Given the description of an element on the screen output the (x, y) to click on. 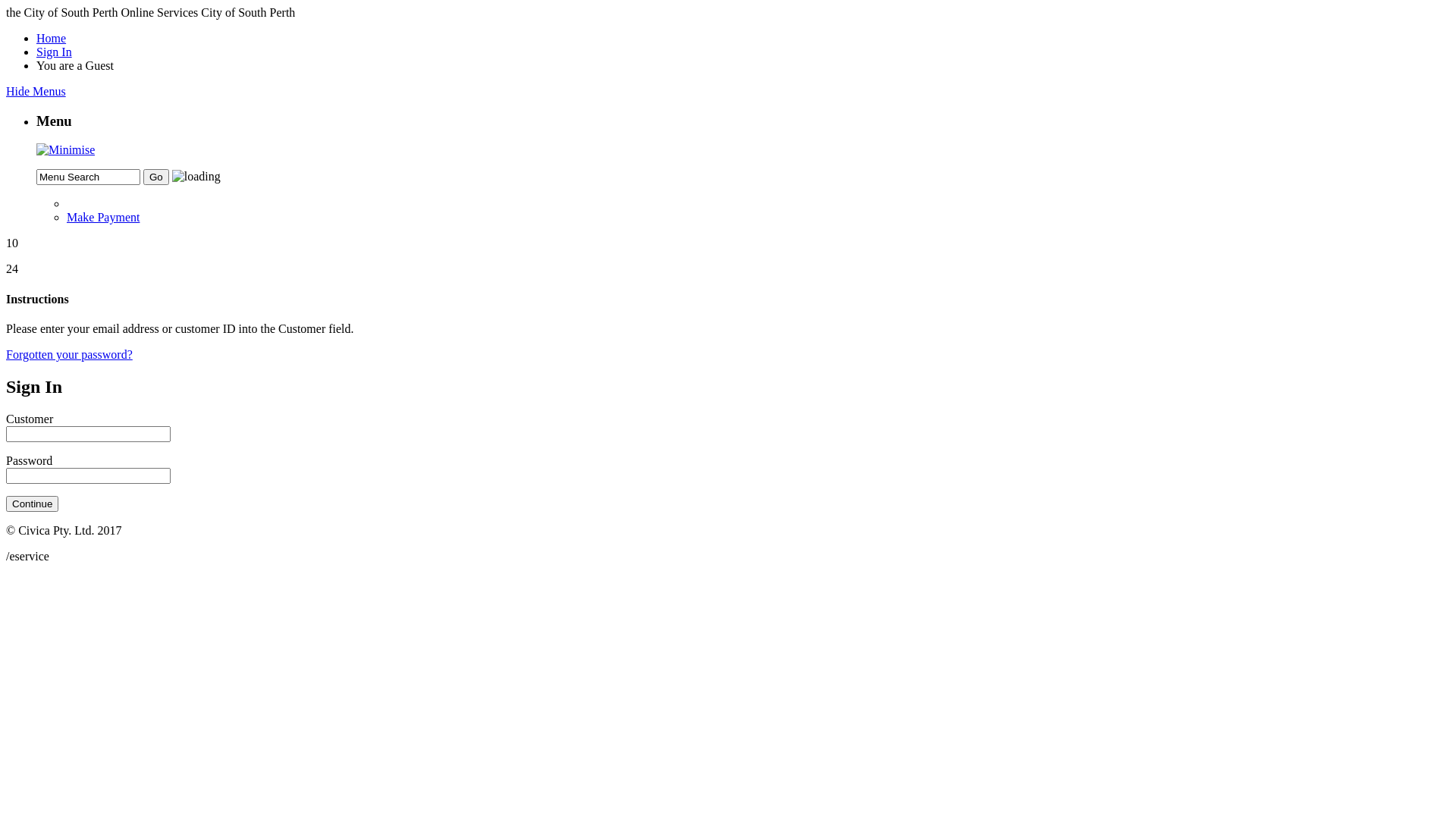
Home Element type: text (50, 37)
Sign In Element type: text (54, 51)
Minimise Panel Element type: hover (65, 149)
Make Payment Element type: text (102, 216)
Hide Menus Element type: text (35, 90)
Forgotten your password? Element type: text (69, 354)
Back one menu level Element type: hover (757, 203)
Continue Element type: text (32, 503)
Go Element type: text (156, 177)
You are a Guest Element type: text (74, 65)
the City of South Perth Online Services City of South Perth Element type: text (150, 12)
